Given the description of an element on the screen output the (x, y) to click on. 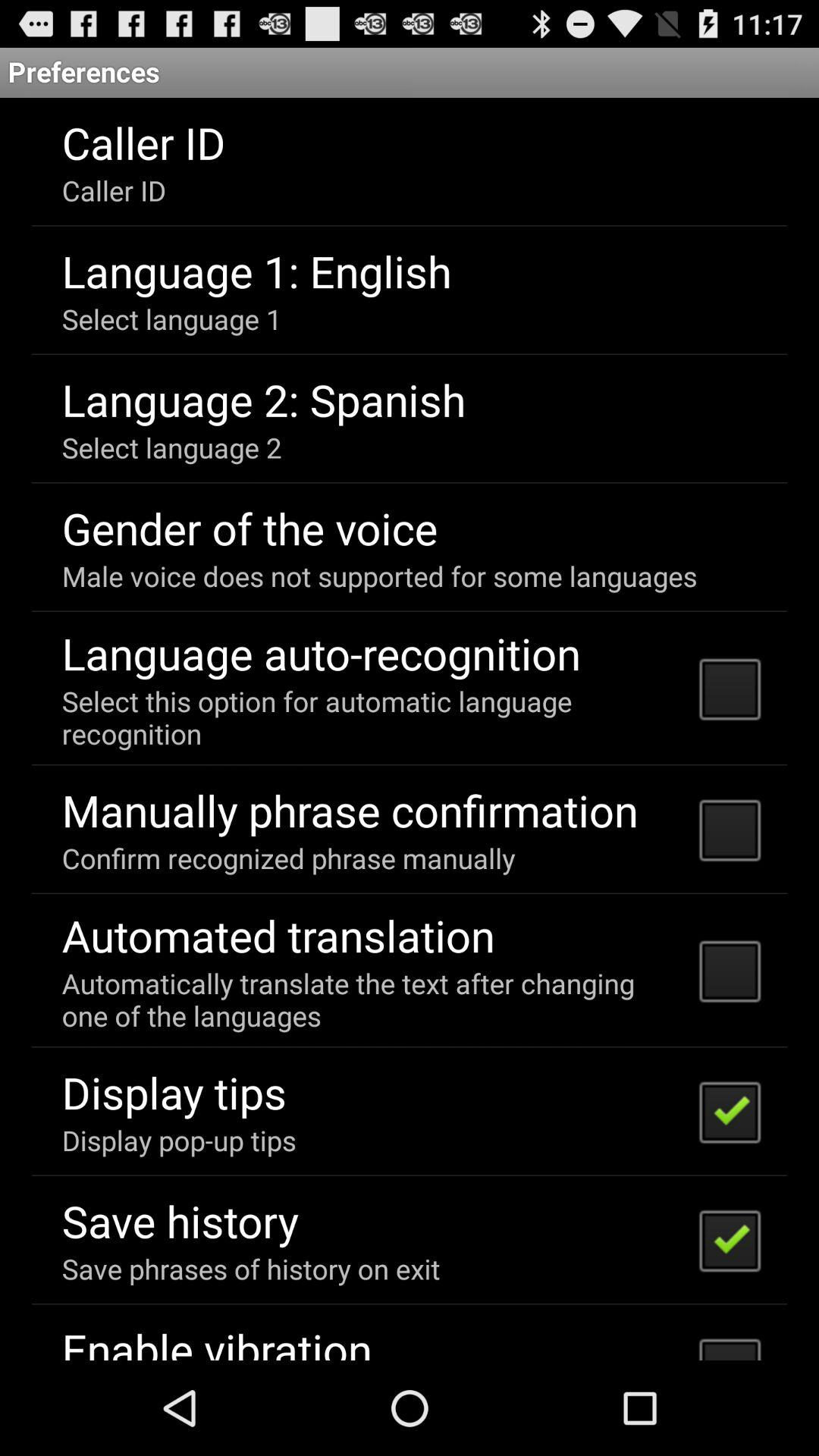
open save phrases of (250, 1268)
